Given the description of an element on the screen output the (x, y) to click on. 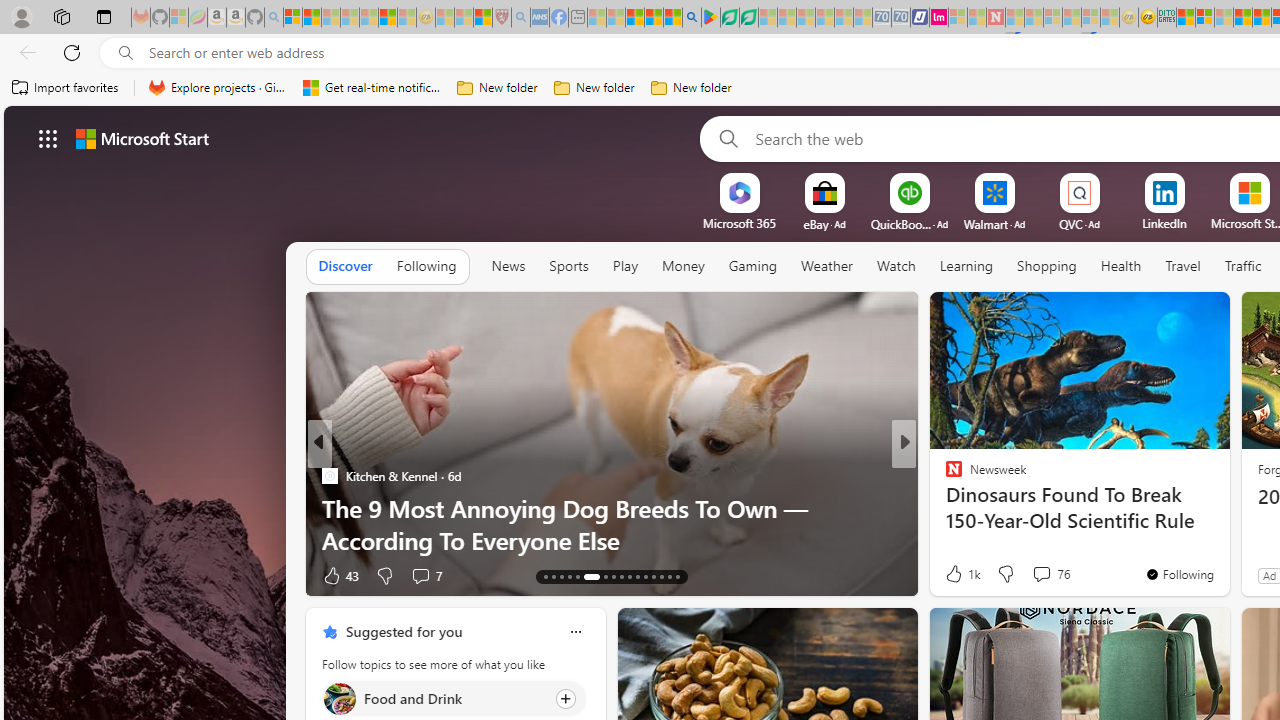
AutomationID: tab-37 (660, 576)
Kinda Frugal - MSN (1262, 17)
View comments 9 Comment (1036, 575)
View comments 76 Comment (1049, 574)
Expert Portfolios (1242, 17)
